Given the description of an element on the screen output the (x, y) to click on. 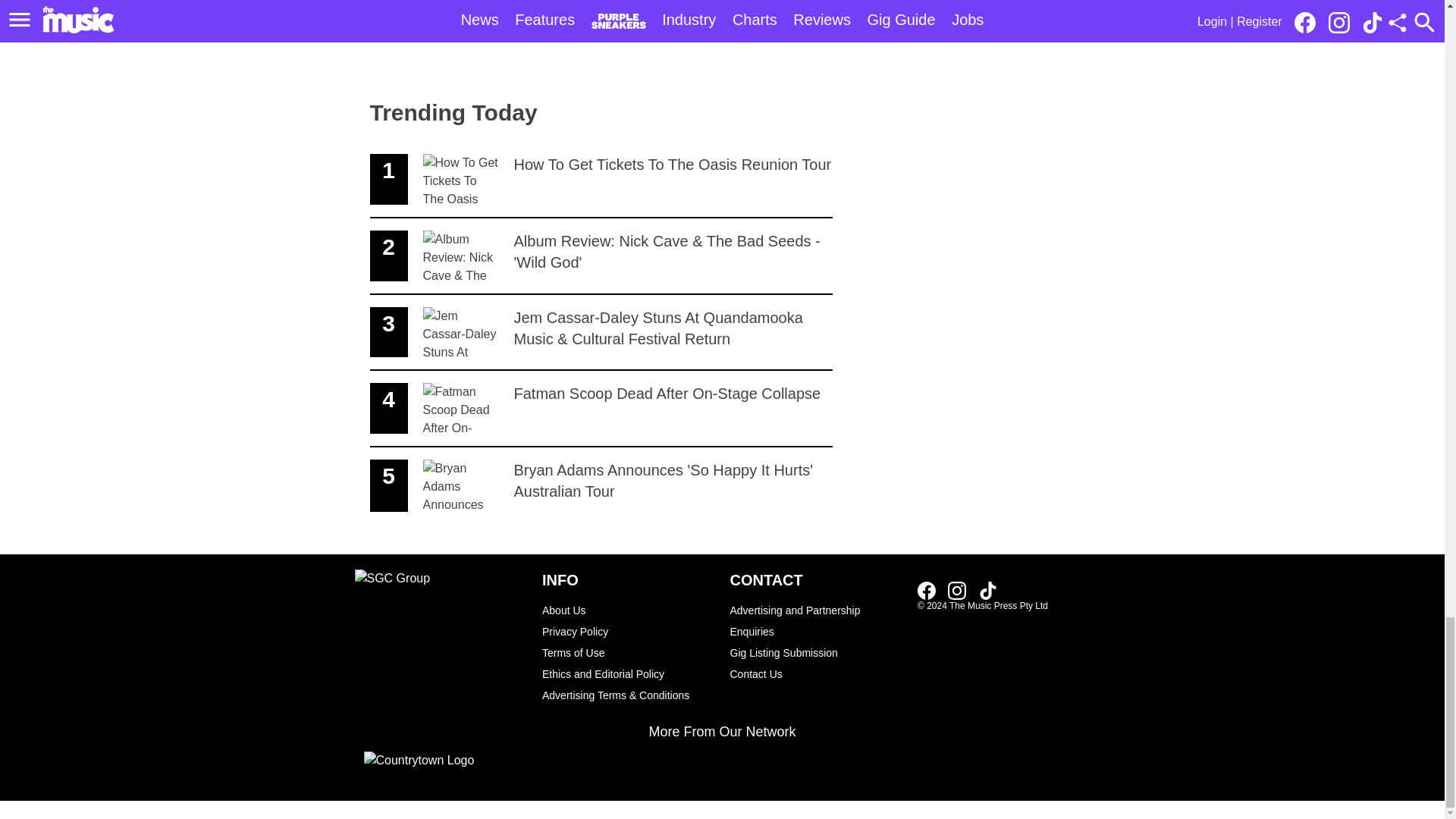
Link to our Instagram (600, 179)
About Us (956, 590)
Link to our TikTok (600, 409)
Link to our Facebook (600, 485)
Privacy Policy (627, 609)
